Given the description of an element on the screen output the (x, y) to click on. 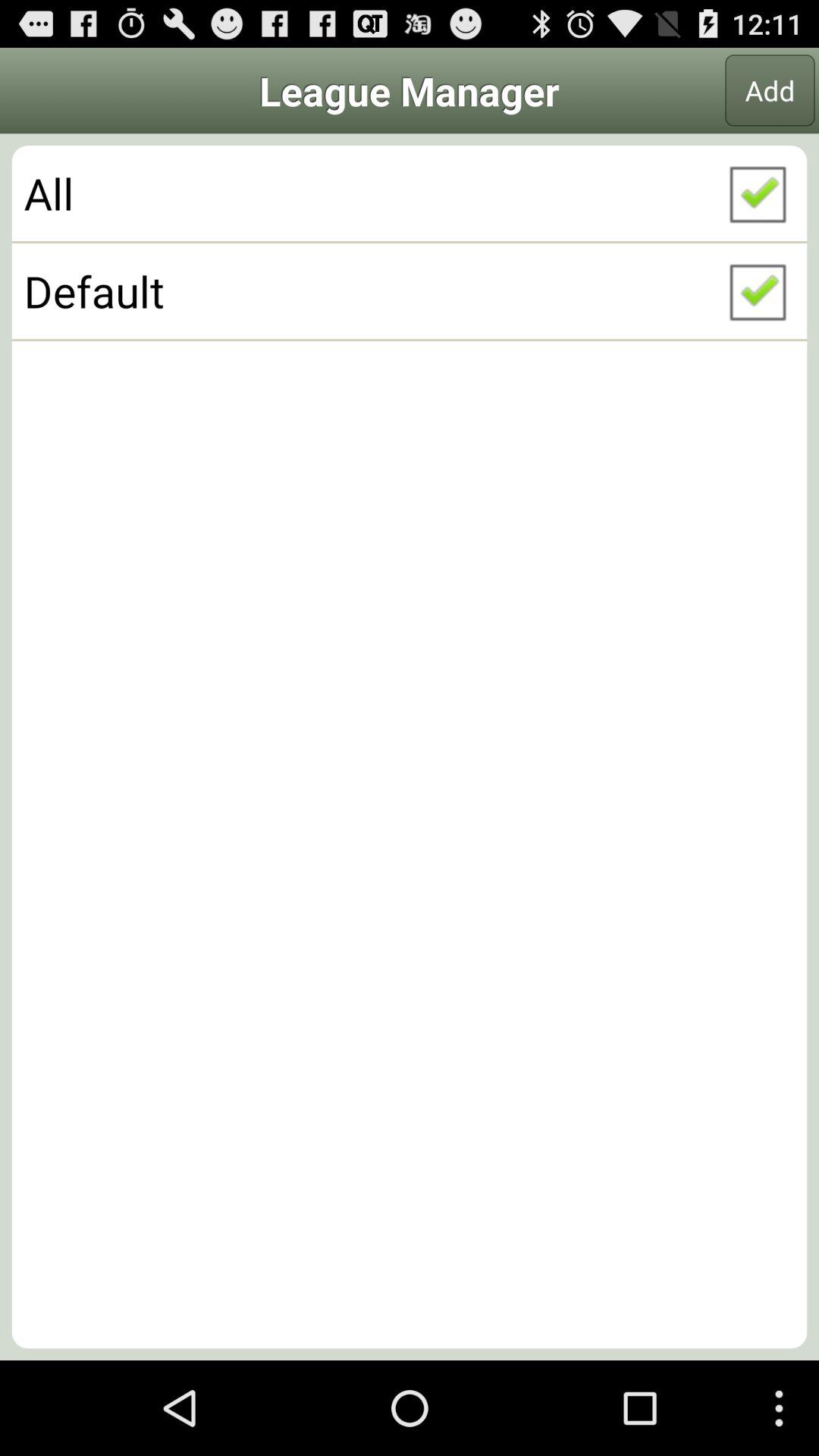
flip to the add item (770, 90)
